Given the description of an element on the screen output the (x, y) to click on. 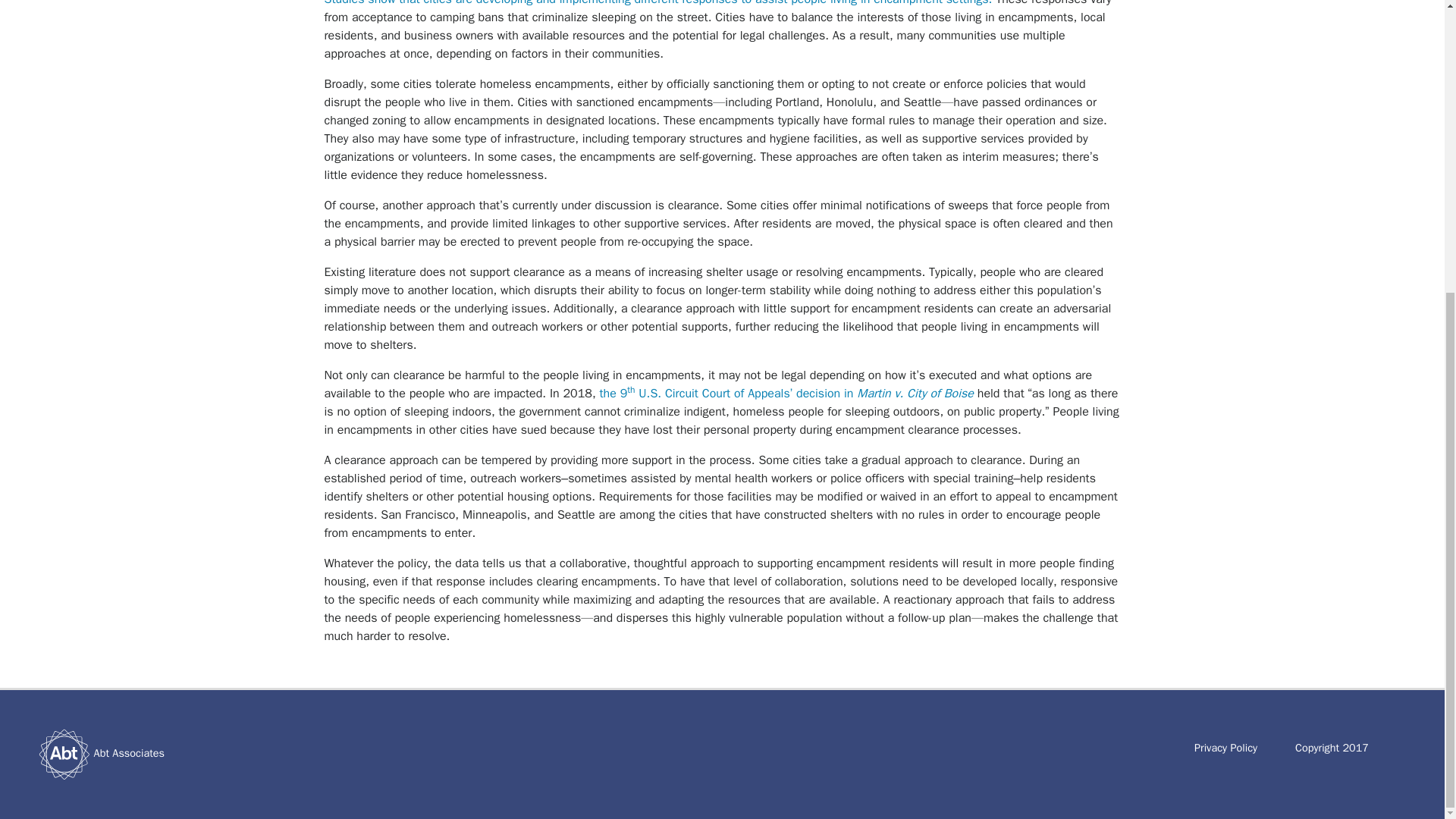
Privacy Policy (1225, 747)
Abt Associates (129, 753)
Copyright 2017 (1331, 747)
